Given the description of an element on the screen output the (x, y) to click on. 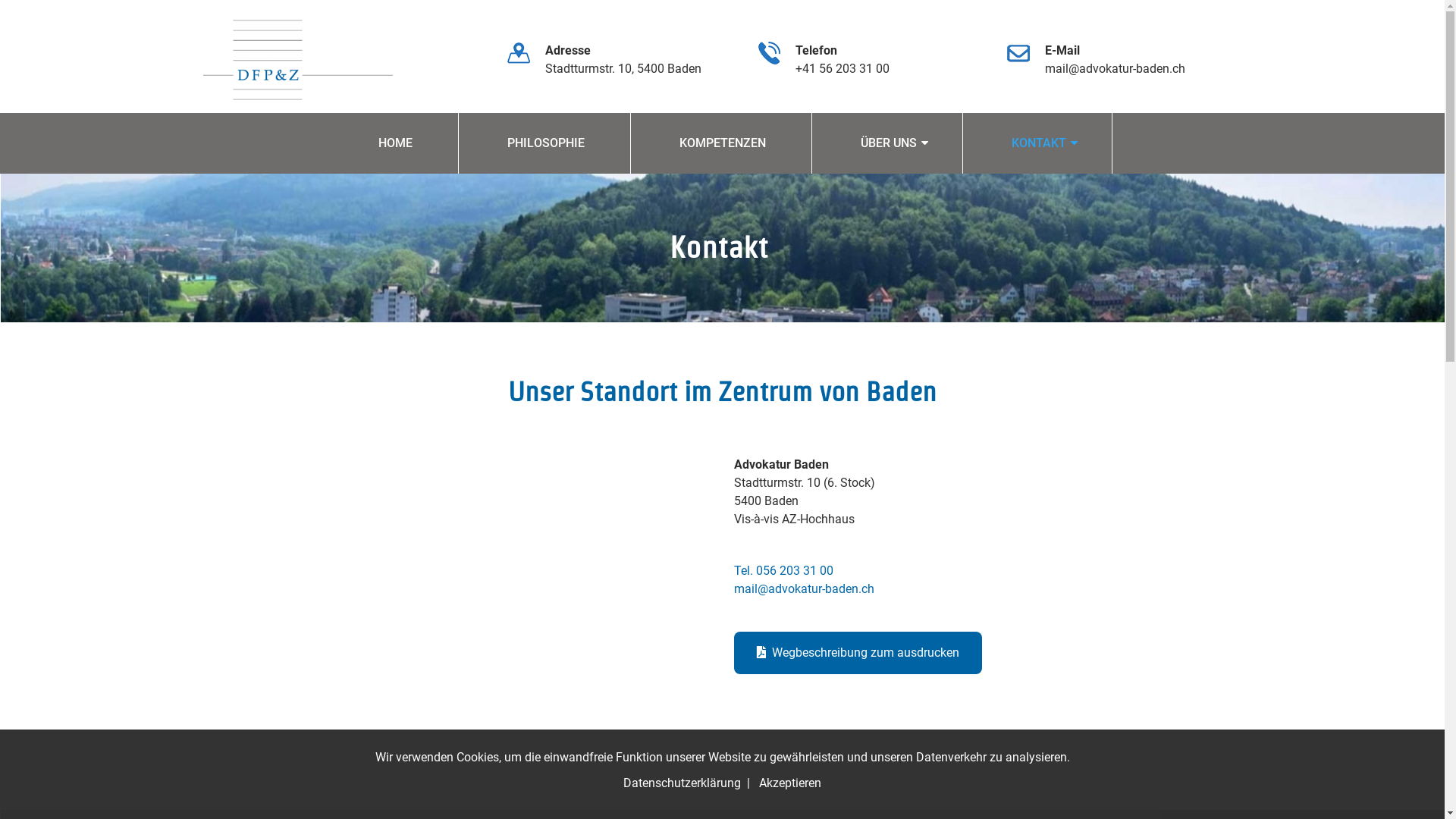
Adresse
Stadtturmstr. 10, 5400 Baden Element type: text (624, 59)
  Wegbeschreibung zum ausdrucken Element type: text (858, 652)
E-Mail
mail@advokatur-baden.ch Element type: text (1124, 59)
Akzeptieren Element type: text (790, 782)
Telefon
+41 56 203 31 00 Element type: text (874, 59)
KOMPETENZEN Element type: text (722, 143)
PHILOSOPHIE Element type: text (544, 143)
KONTAKT Element type: text (1038, 143)
HOME Element type: text (394, 143)
mail@advokatur-baden.ch Element type: text (804, 588)
Tel. 056 203 31 00 Element type: text (783, 570)
